Given the description of an element on the screen output the (x, y) to click on. 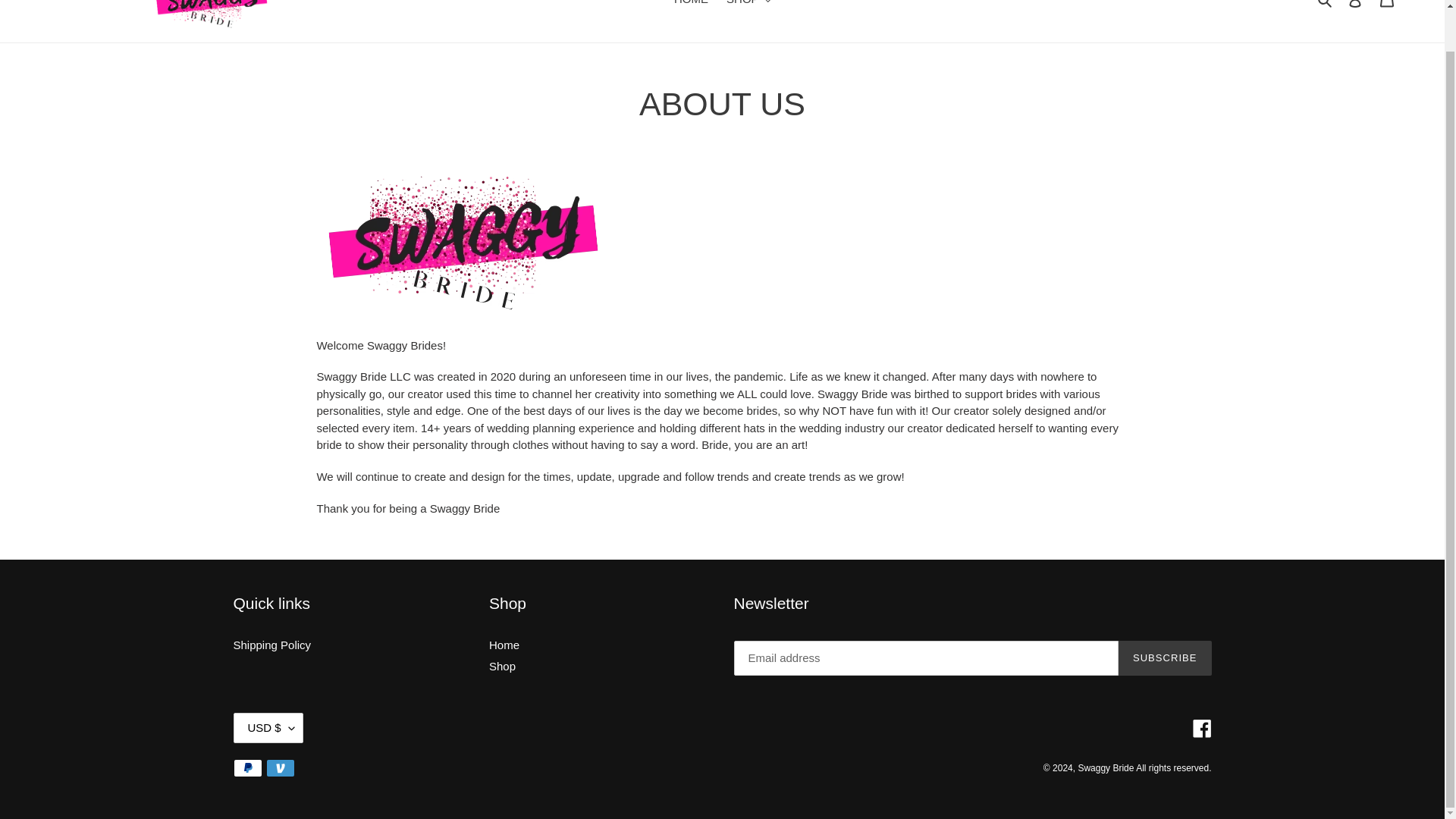
Log in (1355, 7)
Search (1326, 4)
Cart (1387, 7)
SHOP (748, 5)
HOME (691, 5)
